Given the description of an element on the screen output the (x, y) to click on. 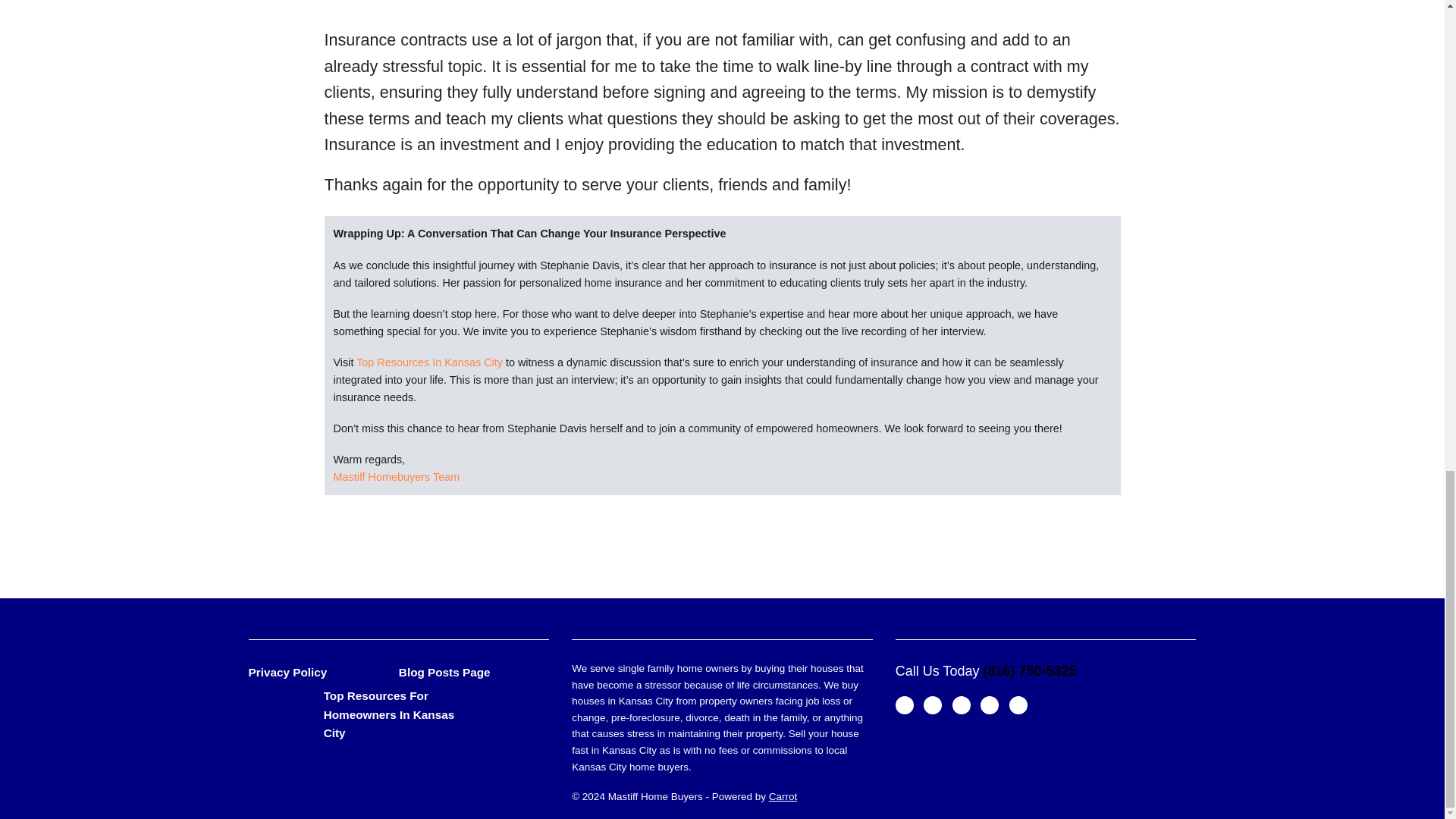
Mastiff Homebuyers Team (396, 476)
LinkedIn (988, 705)
Privacy Policy (323, 672)
Twitter (904, 705)
Top Resources For Homeowners In Kansas City (398, 715)
Instagram (1018, 705)
Facebook (932, 705)
Blog Posts Page (473, 672)
Top Resources In Kansas City (429, 362)
YouTube (961, 705)
